Given the description of an element on the screen output the (x, y) to click on. 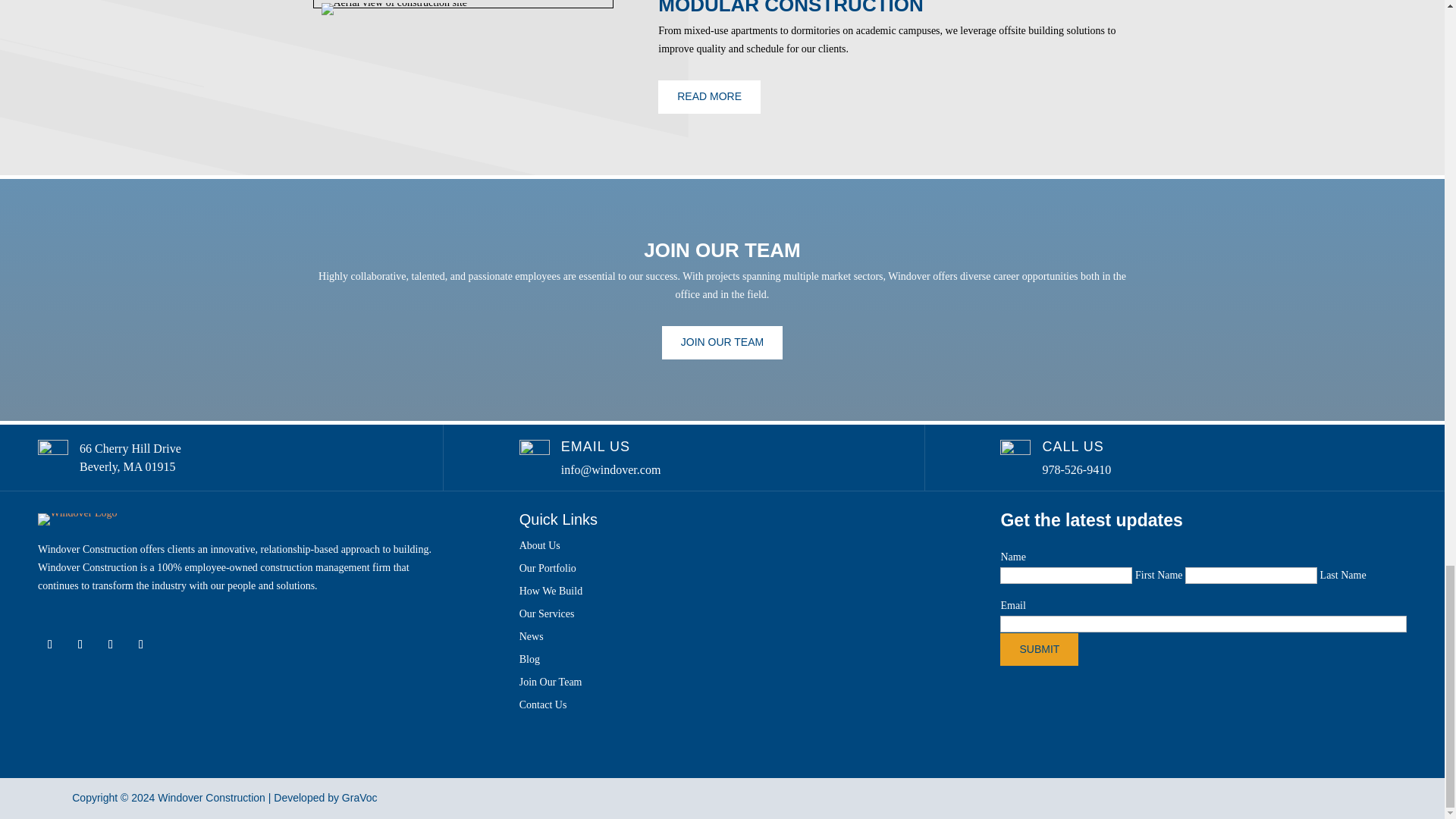
Follow on Instagram (140, 644)
Windover Logo (76, 519)
Follow on Houzz (110, 644)
Follow on LinkedIn (80, 644)
Follow on Facebook (49, 644)
